Given the description of an element on the screen output the (x, y) to click on. 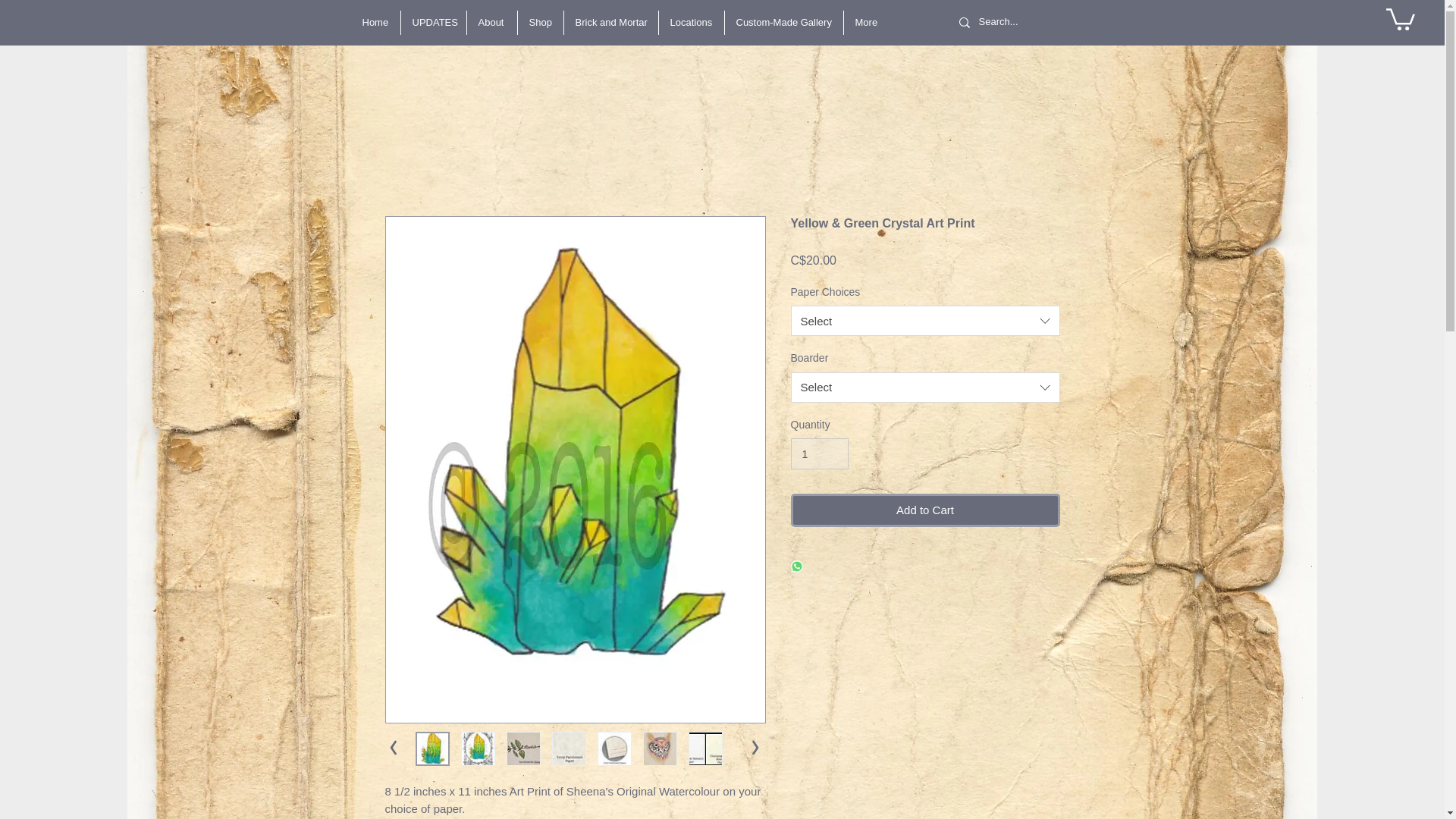
Select (924, 387)
Add to Cart (924, 510)
UPDATES (432, 22)
Home (374, 22)
Locations (690, 22)
Brick and Mortar (611, 22)
Select (924, 320)
1 (818, 453)
Custom-Made Gallery (784, 22)
About (491, 22)
Shop (539, 22)
